Given the description of an element on the screen output the (x, y) to click on. 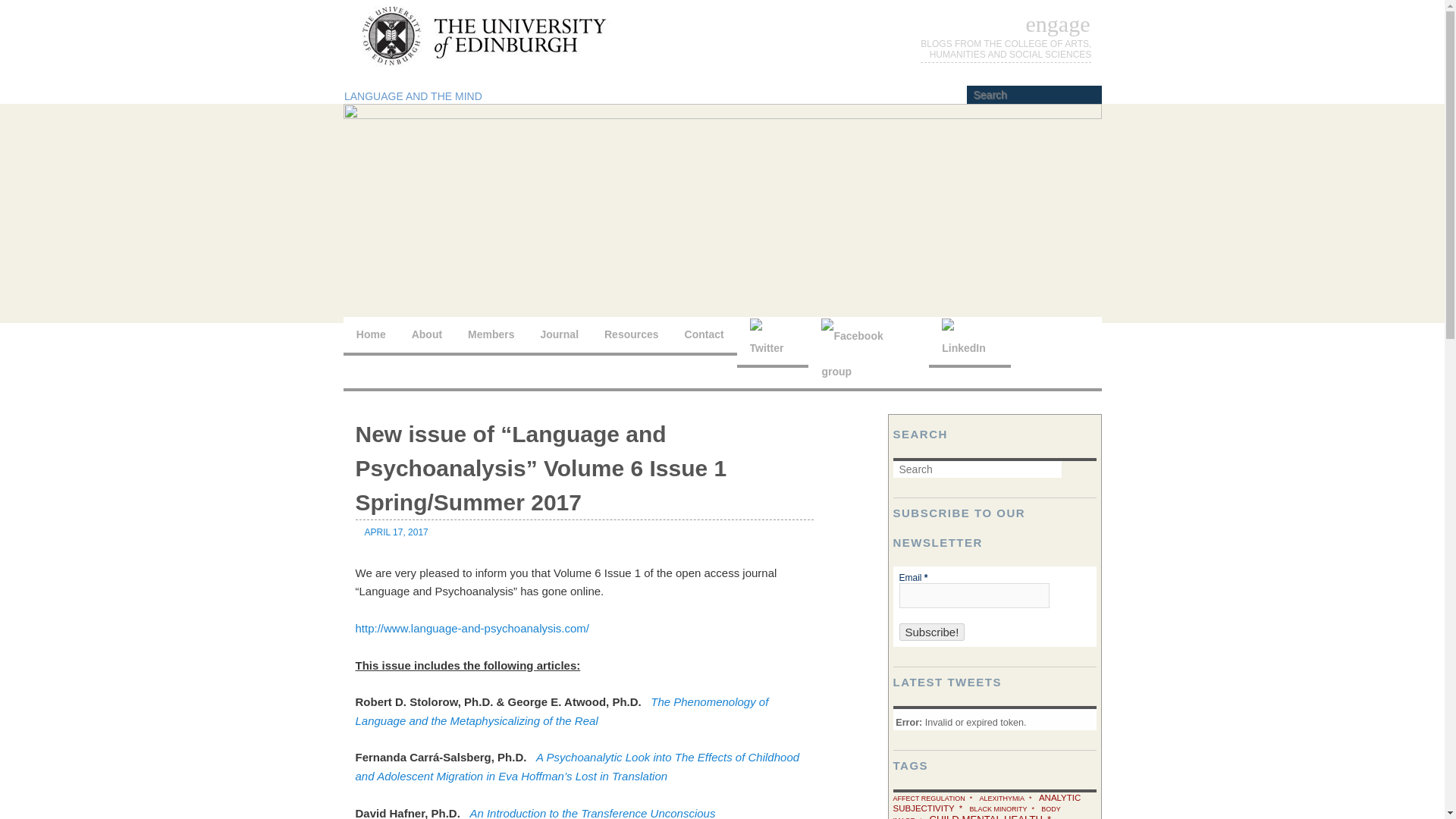
Twitter (771, 342)
engage home page (1058, 23)
An Introduction to the Transference Unconscious (591, 812)
About (426, 335)
Skip to secondary content (485, 336)
LANGUAGE AND THE MIND (412, 96)
Subscribe! (932, 631)
Search (24, 8)
Facebook group (867, 353)
Resources (631, 335)
Members (490, 335)
College home page (1005, 48)
engage (1058, 23)
